Given the description of an element on the screen output the (x, y) to click on. 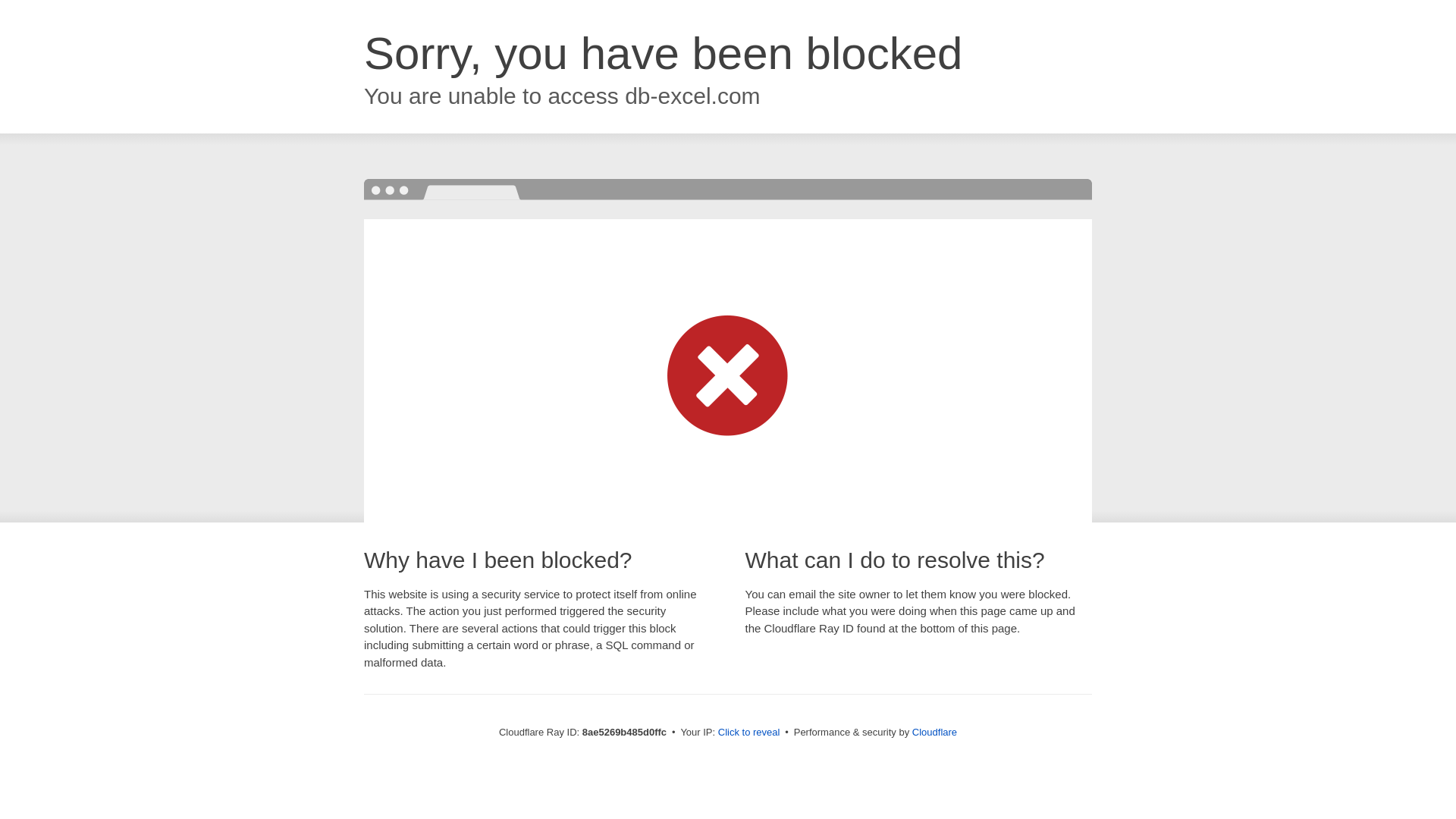
Click to reveal (748, 732)
Cloudflare (934, 731)
